Given the description of an element on the screen output the (x, y) to click on. 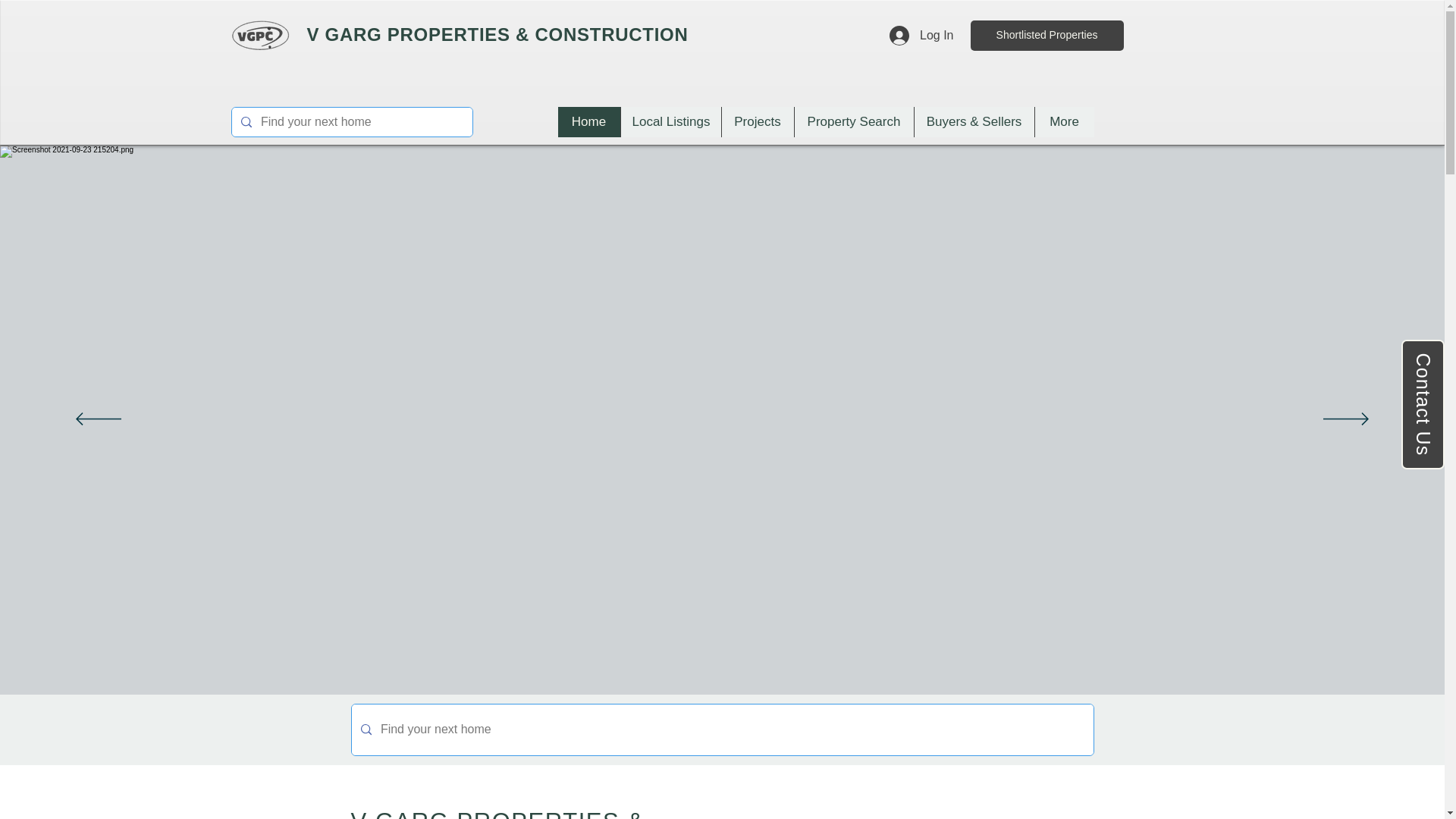
Shortlisted Properties (1047, 35)
Projects (756, 122)
Property Search (852, 122)
Log In (921, 35)
Local Listings (670, 122)
Home (588, 122)
